Given the description of an element on the screen output the (x, y) to click on. 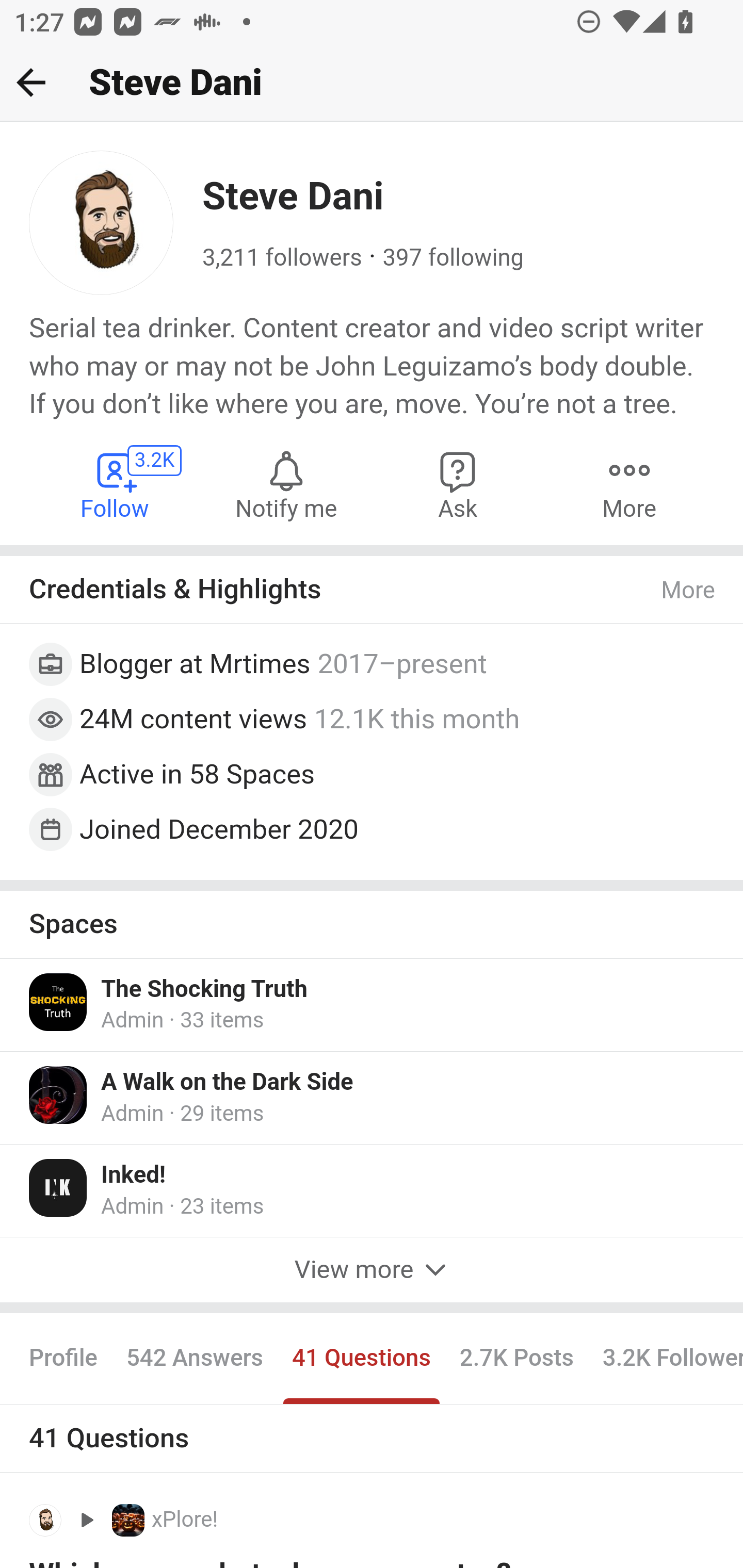
Back (30, 82)
3,211 followers (282, 257)
397 following (452, 257)
Follow Steve Dani 3.2K Follow (115, 483)
Notify me (285, 483)
Ask (458, 483)
More (628, 483)
More (688, 590)
Icon for The Shocking Truth (58, 1001)
The Shocking Truth (204, 990)
Icon for A Walk on the Dark Side (58, 1094)
A Walk on the Dark Side (227, 1082)
Icon for Inked! (58, 1186)
Inked! (134, 1174)
View more (371, 1270)
Profile (63, 1358)
542 Answers (193, 1358)
41 Questions (360, 1358)
2.7K Posts (516, 1358)
3.2K Followers (664, 1358)
